Given the description of an element on the screen output the (x, y) to click on. 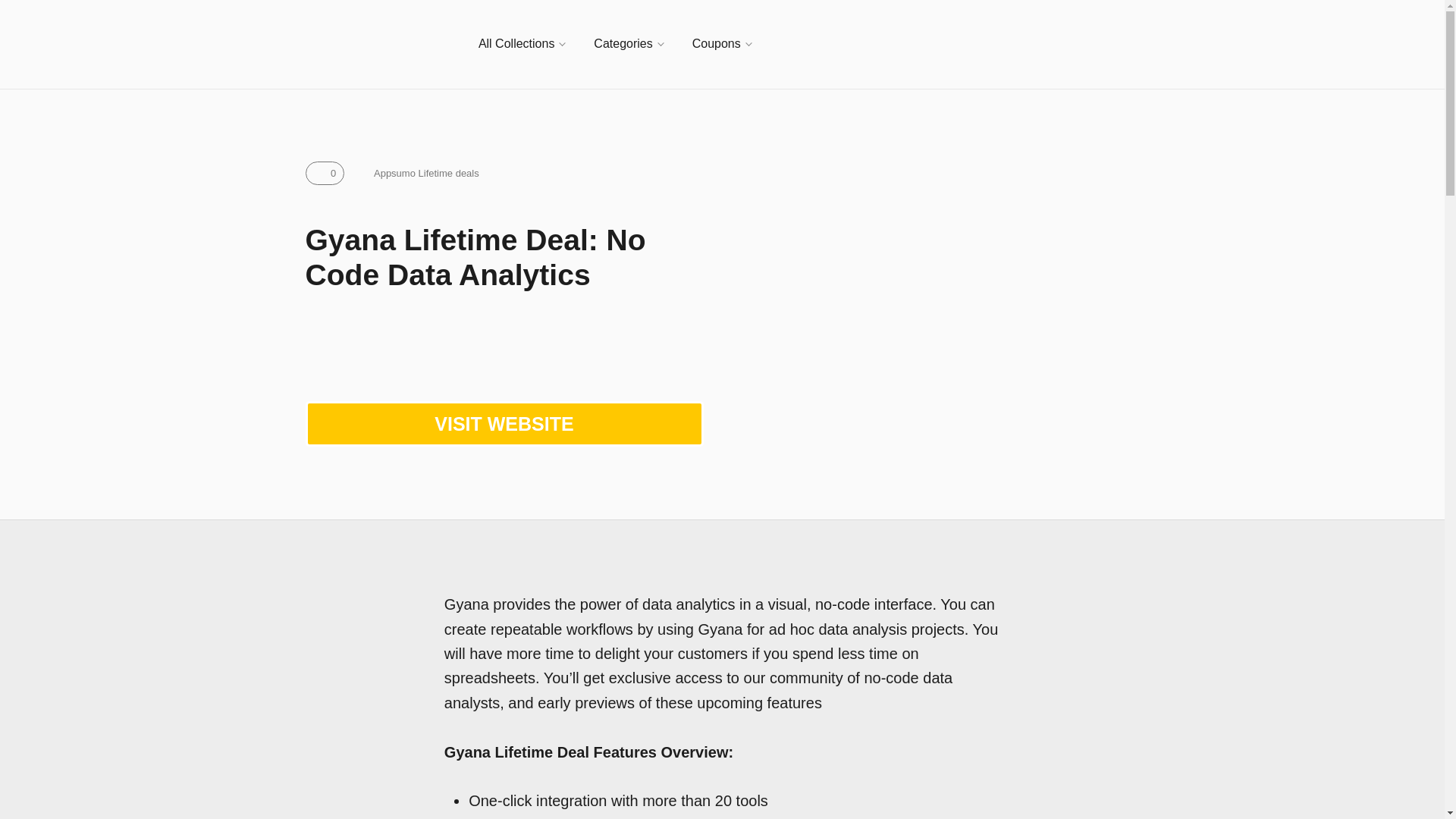
Upvote (323, 173)
Gyana Lifetime Deal: No Code Data Analytics (940, 334)
Categories (628, 44)
All Collections (521, 44)
Coupons (722, 44)
Terms (417, 172)
Search (1131, 43)
